Given the description of an element on the screen output the (x, y) to click on. 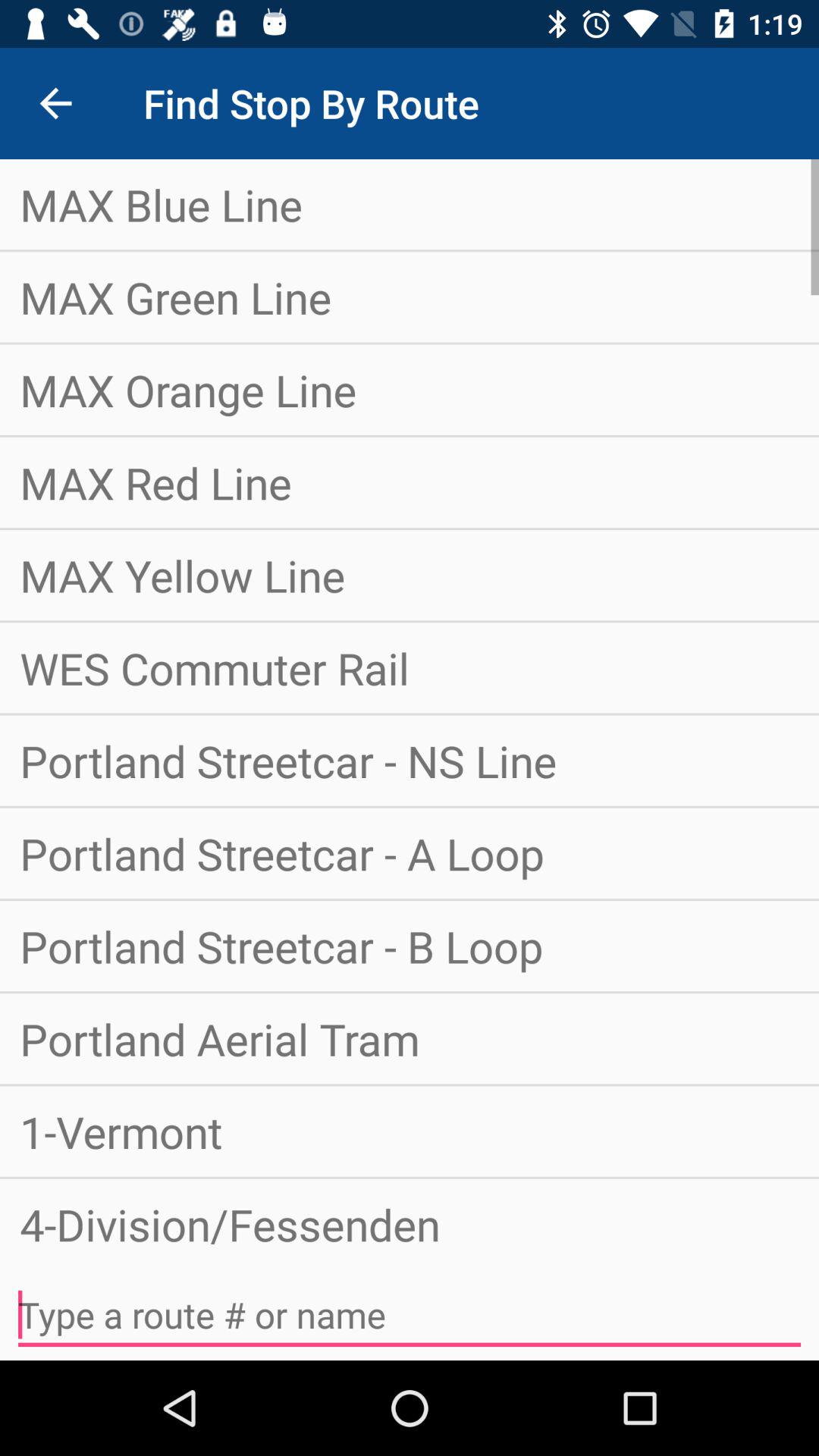
open the wes commuter rail (409, 667)
